Given the description of an element on the screen output the (x, y) to click on. 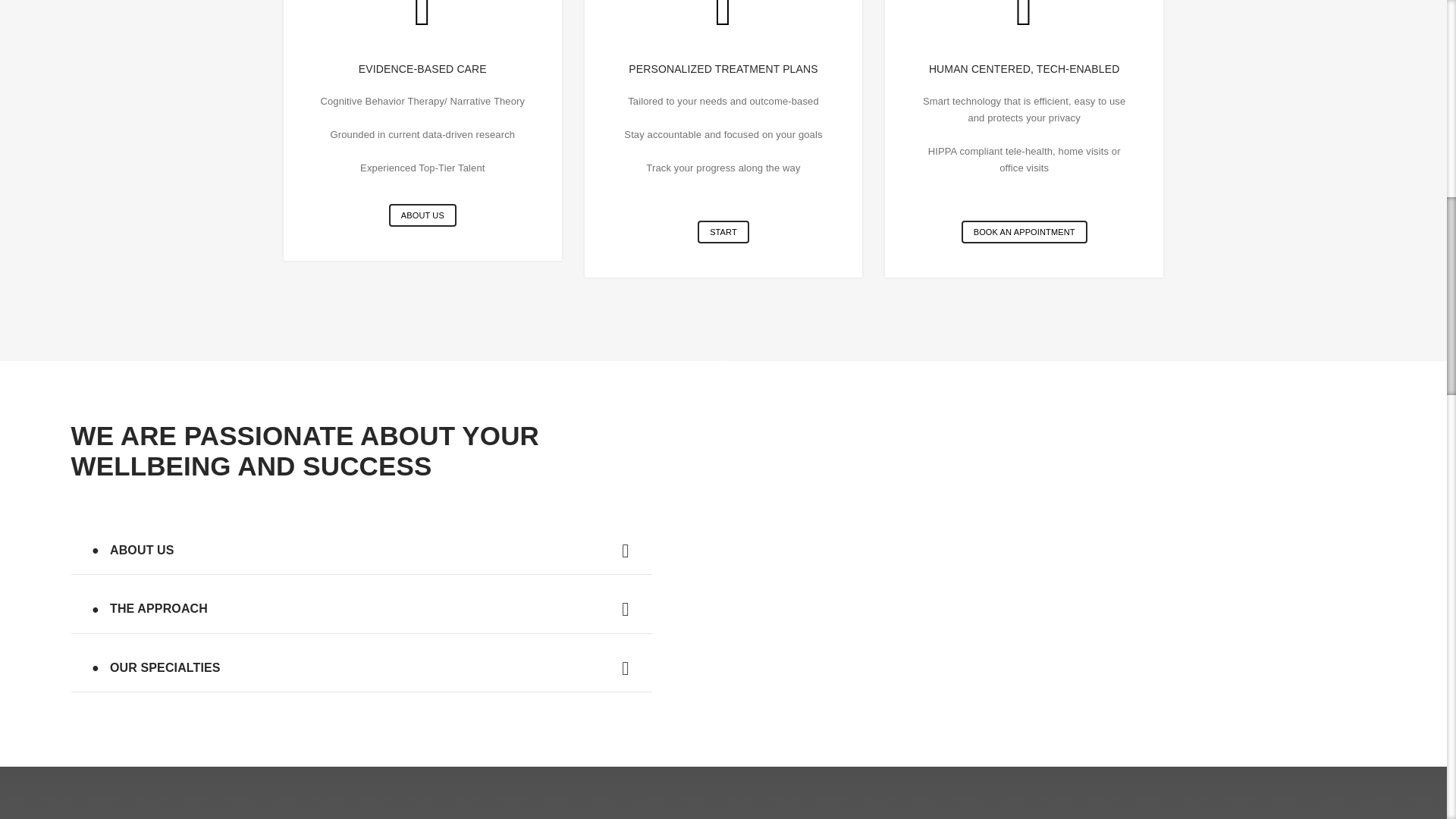
START (723, 231)
ABOUT US (422, 214)
BOOK AN APPOINTMENT (1023, 231)
